Given the description of an element on the screen output the (x, y) to click on. 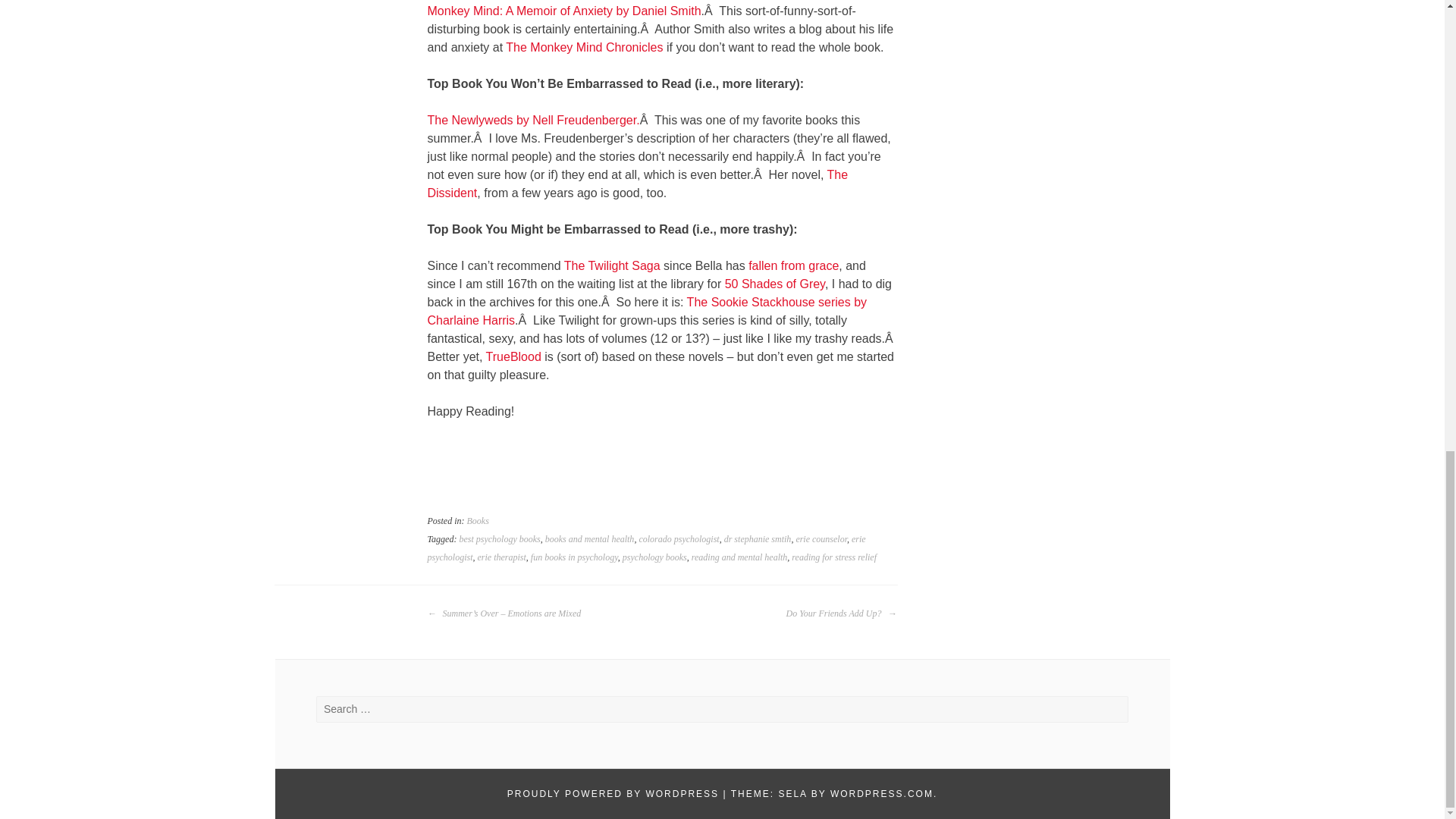
fallen from grace (793, 265)
A Semantic Personal Publishing Platform (612, 793)
erie therapist (501, 557)
The Newlyweds by Nell Freudenberger. (534, 119)
Monkey Mind: A Memoir of Anxiety by Daniel Smith (564, 10)
dr stephanie smtih (757, 538)
psychology books (655, 557)
The Dissident (638, 183)
books and mental health (589, 538)
erie psychologist (647, 547)
The Sookie Stackhouse series by Charlaine Harris (647, 310)
reading and mental health (739, 557)
50 Shades of Grey (775, 283)
best psychology books (499, 538)
The Monkey Mind Chronicles (583, 47)
